Given the description of an element on the screen output the (x, y) to click on. 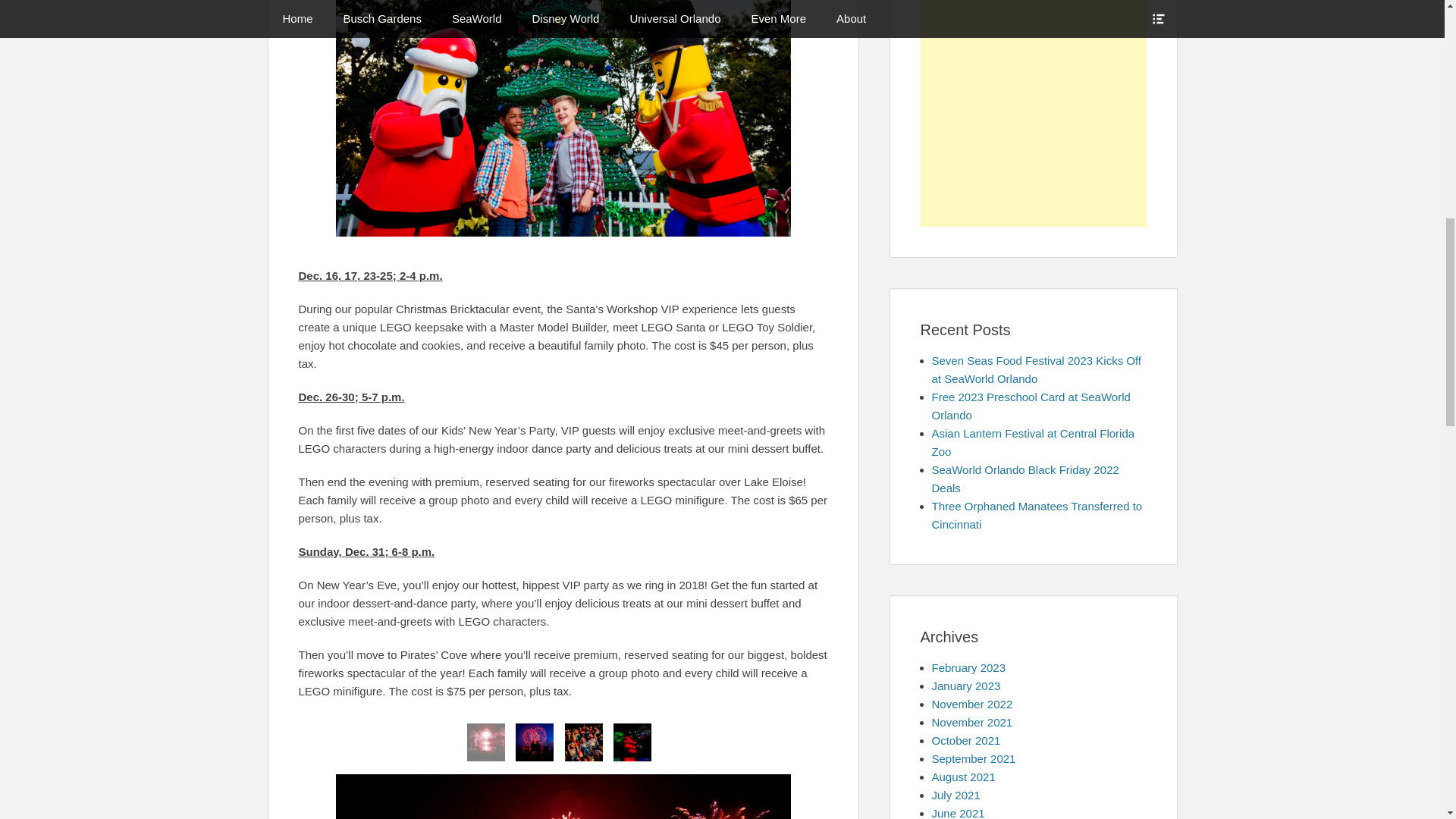
Legoland Florida - VIP Holiday Experiences 2017 - 002 (563, 118)
Legoland Florida - VIP Holiday Experiences 2017 - 005 (486, 742)
